Given the description of an element on the screen output the (x, y) to click on. 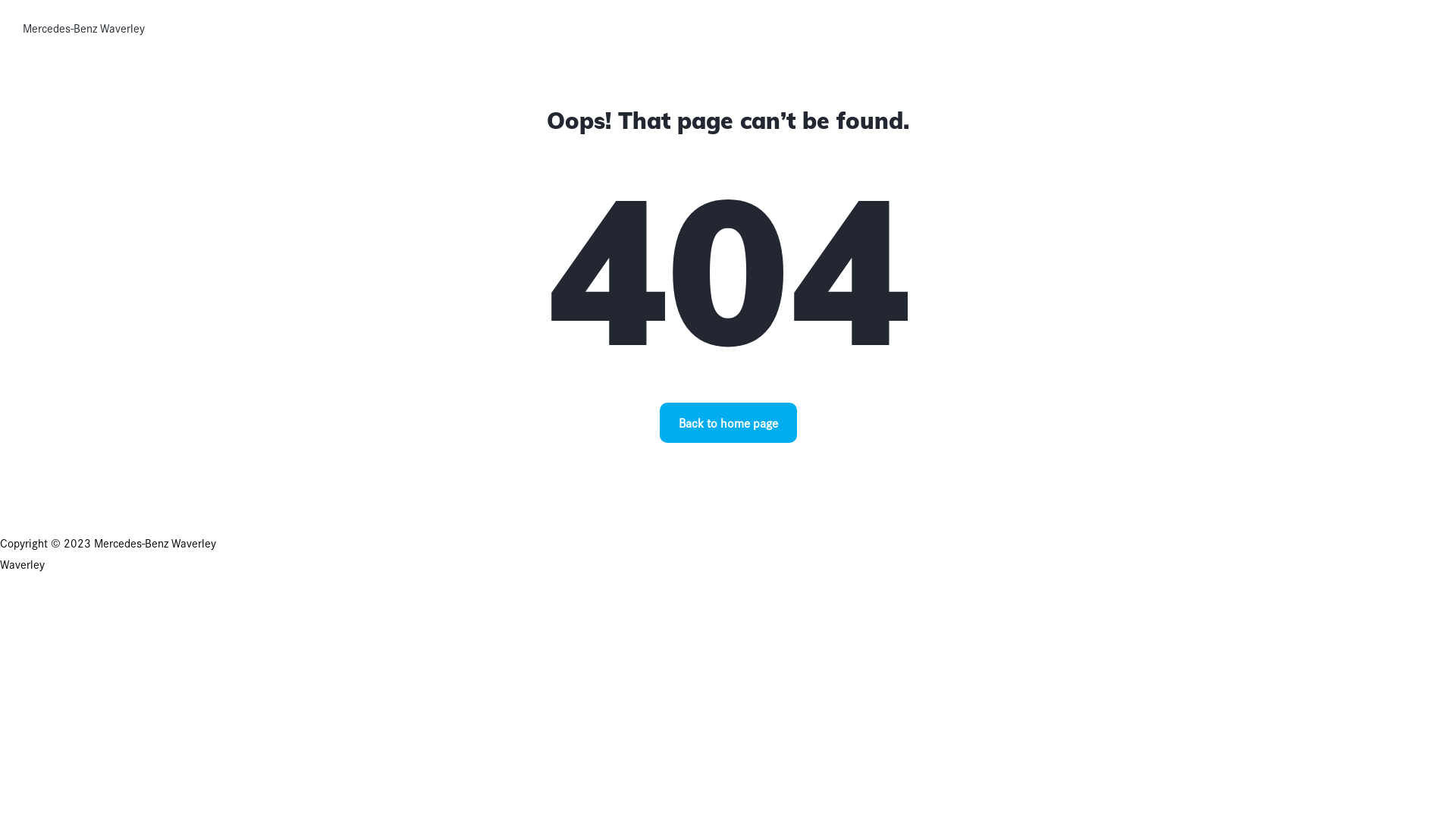
Mercedes-Benz Waverley Element type: text (83, 27)
Back to home page Element type: text (728, 422)
